Given the description of an element on the screen output the (x, y) to click on. 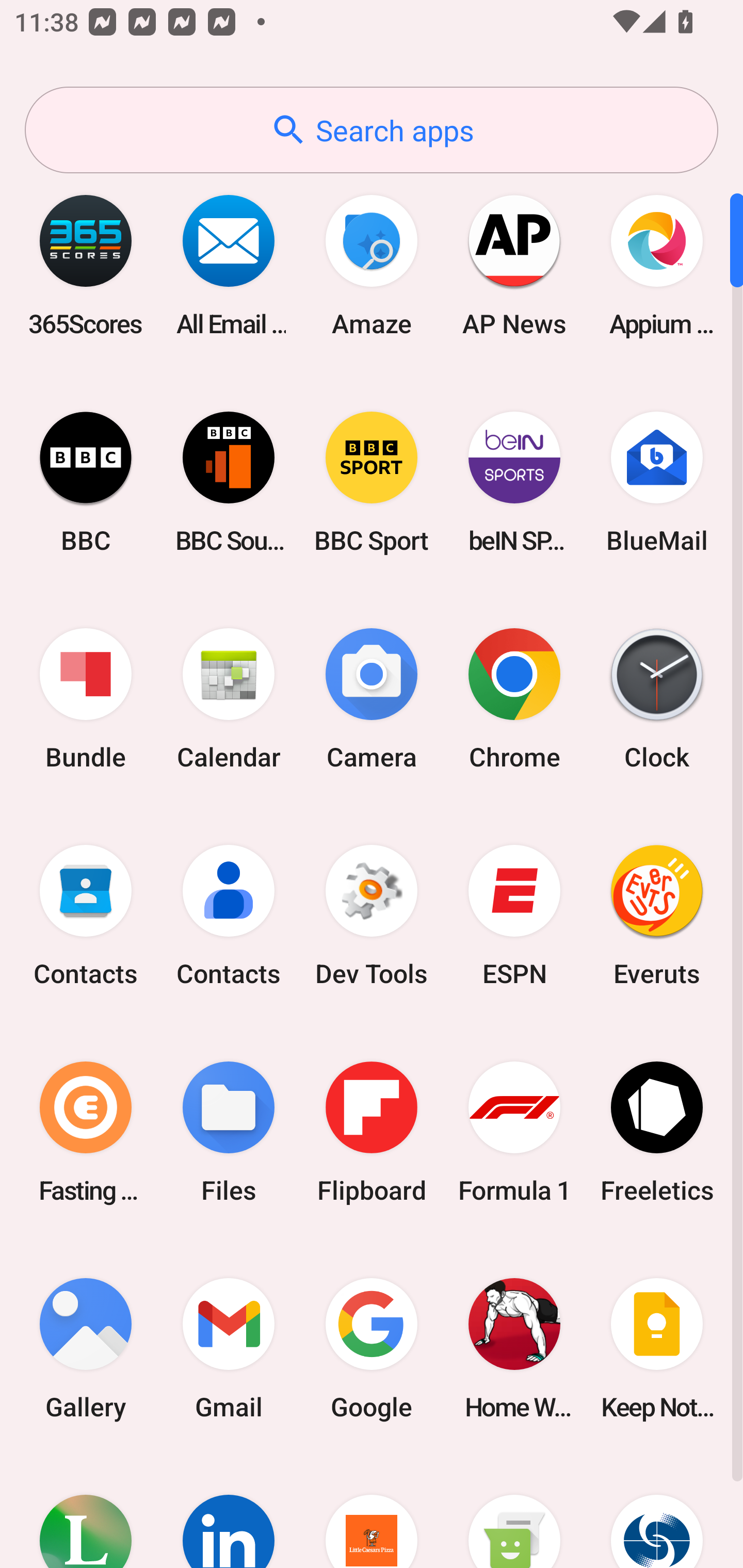
  Search apps (371, 130)
365Scores (85, 264)
All Email Connect (228, 264)
Amaze (371, 264)
AP News (514, 264)
Appium Settings (656, 264)
BBC (85, 482)
BBC Sounds (228, 482)
BBC Sport (371, 482)
beIN SPORTS (514, 482)
BlueMail (656, 482)
Bundle (85, 699)
Calendar (228, 699)
Camera (371, 699)
Chrome (514, 699)
Clock (656, 699)
Contacts (85, 915)
Contacts (228, 915)
Dev Tools (371, 915)
ESPN (514, 915)
Everuts (656, 915)
Fasting Coach (85, 1131)
Files (228, 1131)
Flipboard (371, 1131)
Formula 1 (514, 1131)
Freeletics (656, 1131)
Gallery (85, 1348)
Gmail (228, 1348)
Google (371, 1348)
Home Workout (514, 1348)
Keep Notes (656, 1348)
Lifesum (85, 1512)
LinkedIn (228, 1512)
Little Caesars Pizza (371, 1512)
Messaging (514, 1512)
MyObservatory (656, 1512)
